Given the description of an element on the screen output the (x, y) to click on. 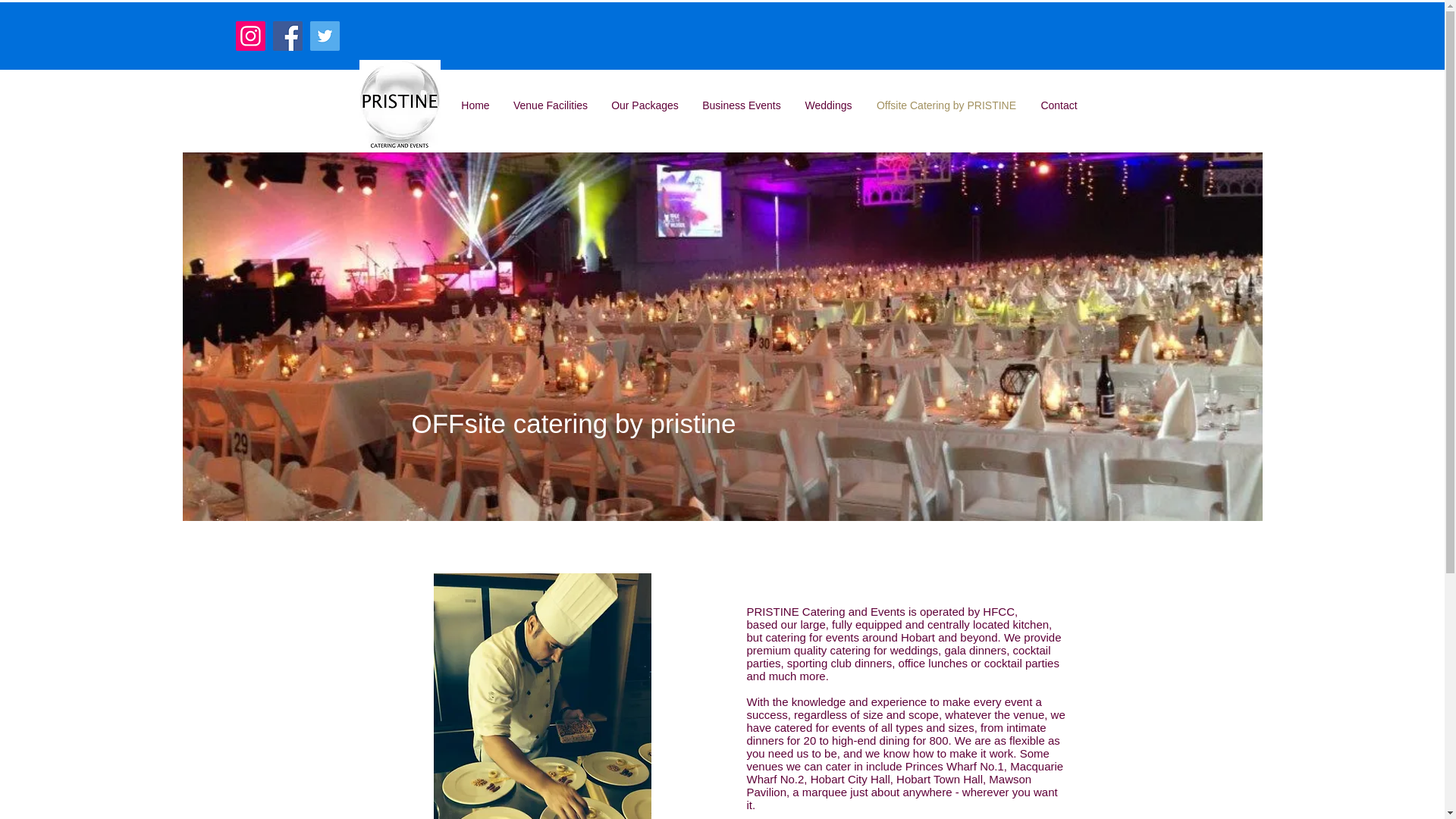
Contact (1058, 104)
Weddings (828, 104)
Business Events (741, 104)
Our Packages (644, 104)
Offsite Catering by PRISTINE (946, 104)
Venue Facilities (550, 104)
Home (474, 104)
